Given the description of an element on the screen output the (x, y) to click on. 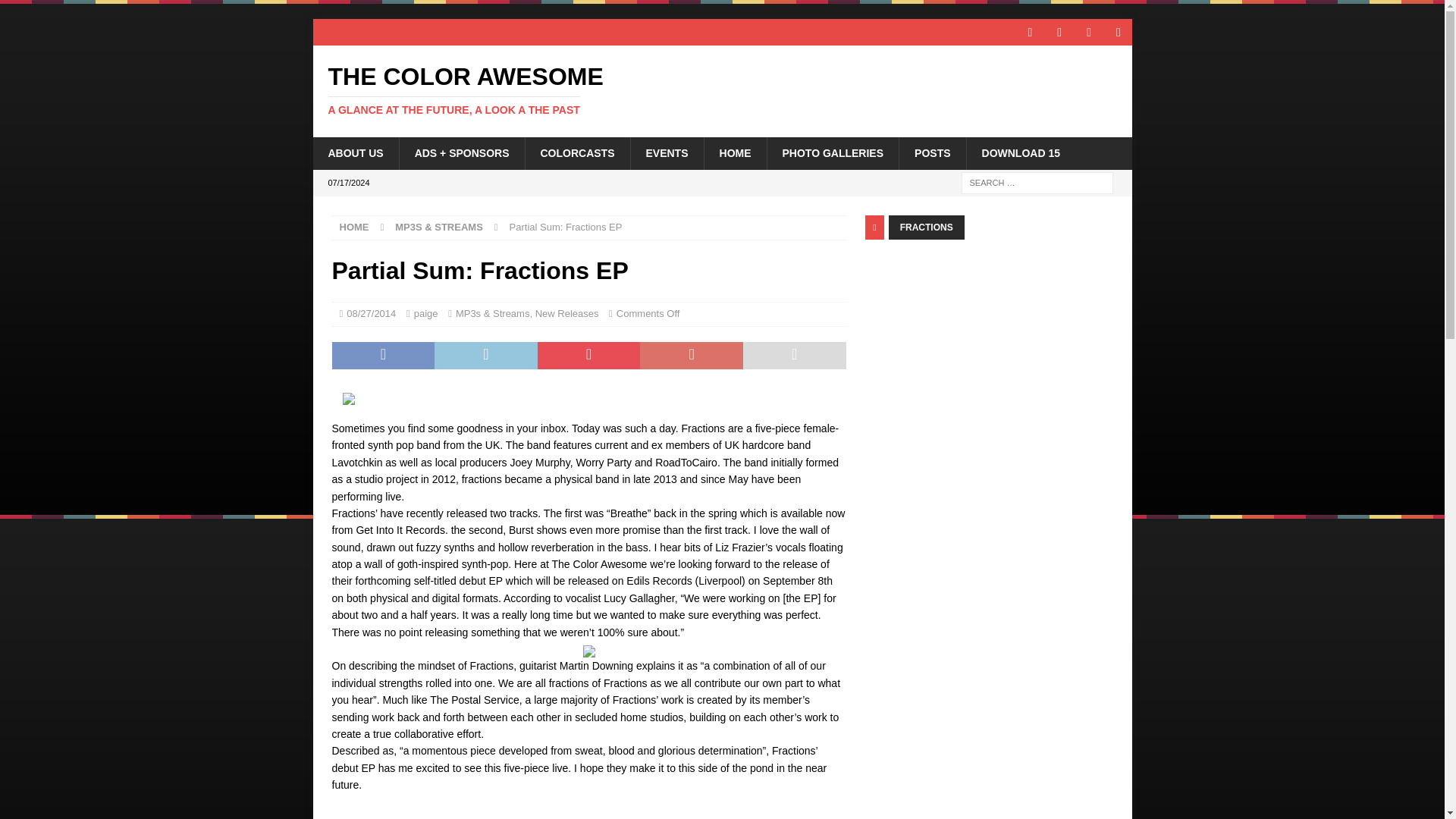
HOME (735, 152)
paige (425, 313)
The Color Awesome (721, 90)
COLORCASTS (577, 152)
Joey Murphy (540, 462)
Get Into It Records (400, 530)
Worry Party (603, 462)
DOWNLOAD 15 (1020, 152)
RoadToCairo (686, 462)
Lavotchkin (356, 462)
PHOTO GALLERIES (833, 152)
HOME (354, 226)
New Releases (566, 313)
EVENTS (665, 152)
Search (56, 11)
